Given the description of an element on the screen output the (x, y) to click on. 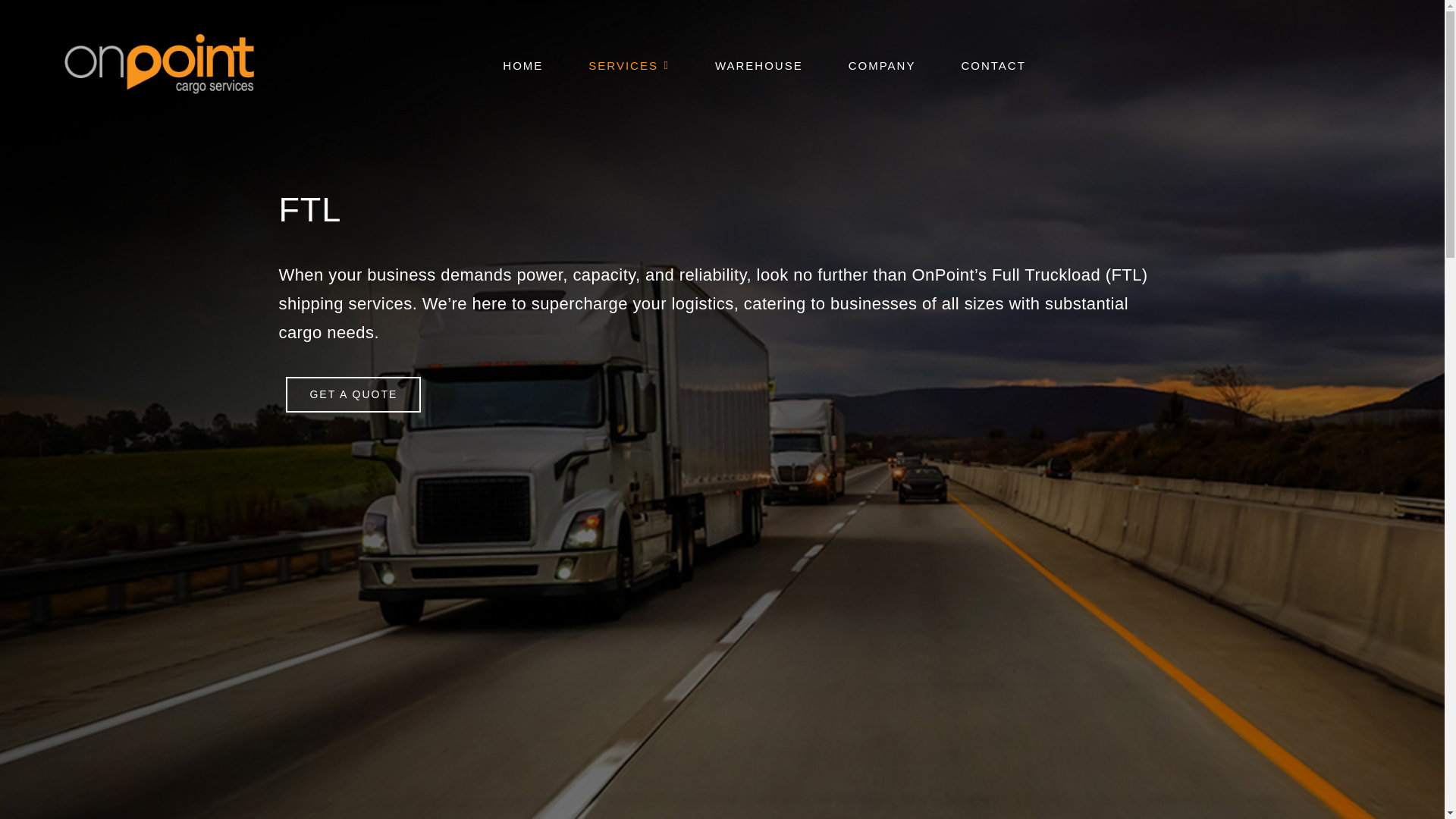
SERVICES (628, 63)
GET A QUOTE (352, 394)
COMPANY (881, 63)
CONTACT (992, 63)
WAREHOUSE (758, 63)
